Given the description of an element on the screen output the (x, y) to click on. 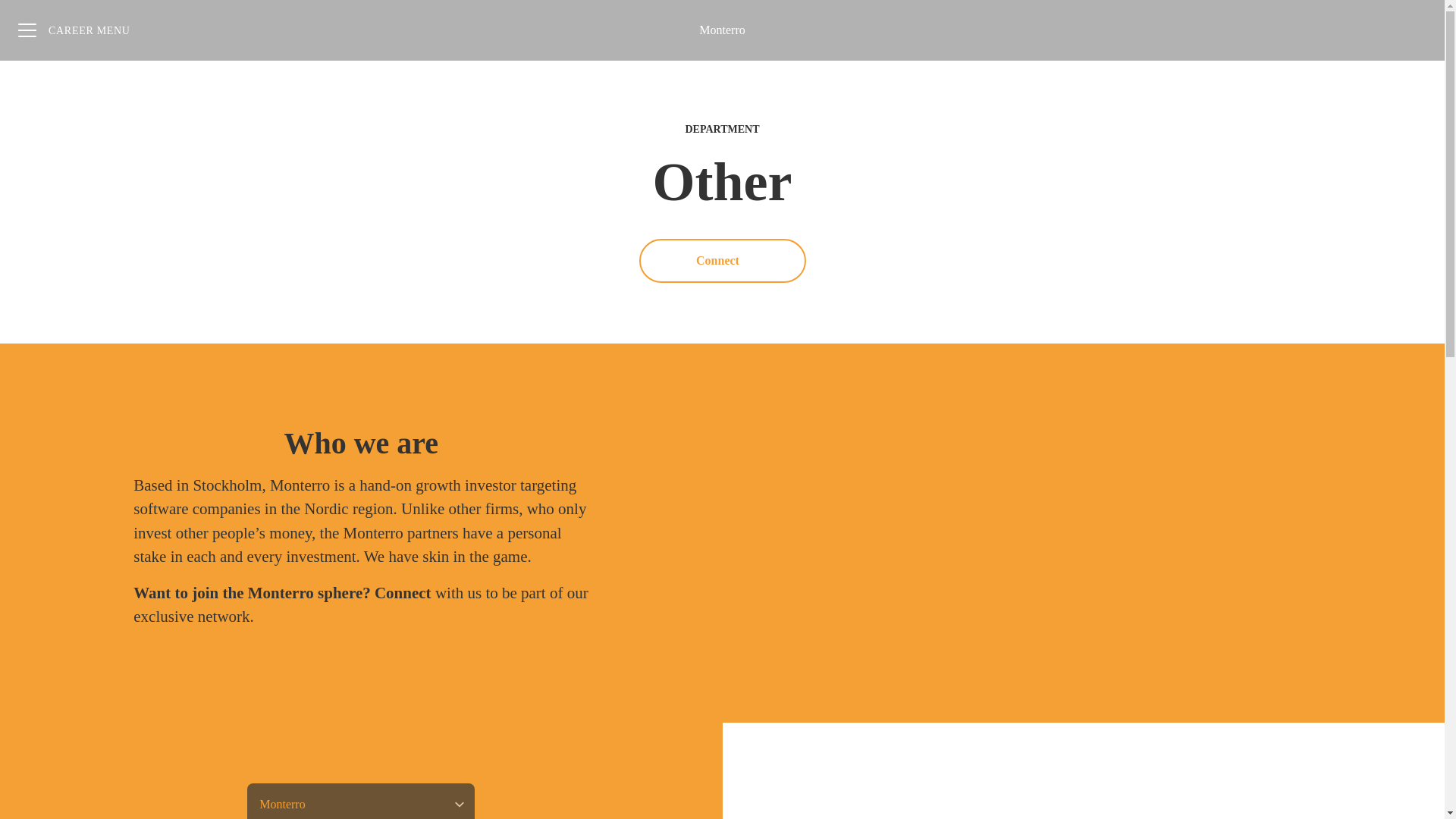
Monterro (721, 30)
CAREER MENU (73, 30)
Connect (402, 592)
Connect (722, 260)
Share page (1414, 30)
Select location (360, 800)
Career menu (73, 30)
